Given the description of an element on the screen output the (x, y) to click on. 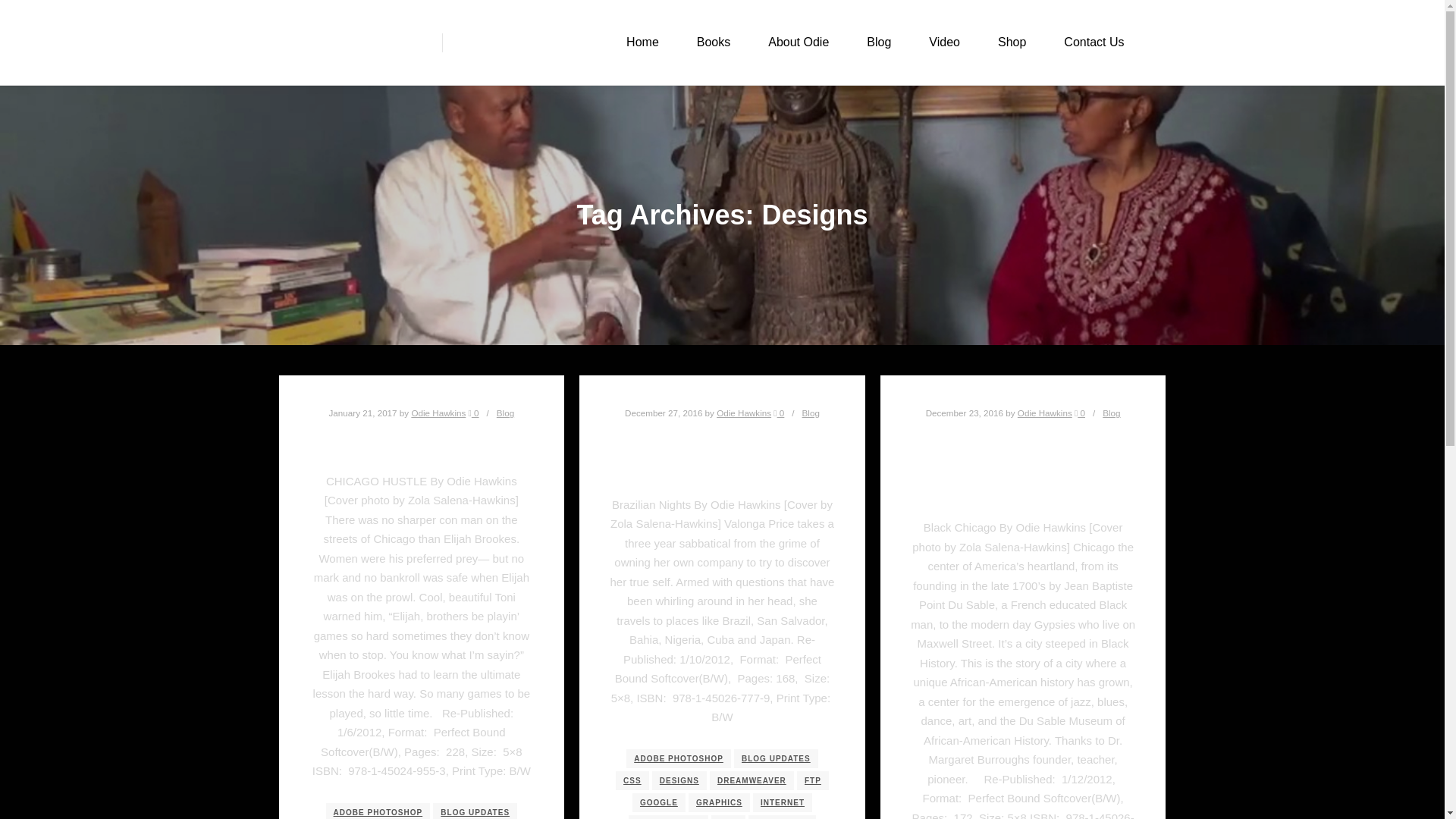
View all posts by Odie Hawkins (437, 412)
ADOBE PHOTOSHOP (378, 811)
Odie Hawkins (437, 412)
Blog (810, 412)
Blog (504, 412)
Chicago Hustle (421, 441)
DESIGNS (679, 780)
View all posts by Odie Hawkins (743, 412)
0 (778, 412)
BLOG UPDATES (775, 758)
